Given the description of an element on the screen output the (x, y) to click on. 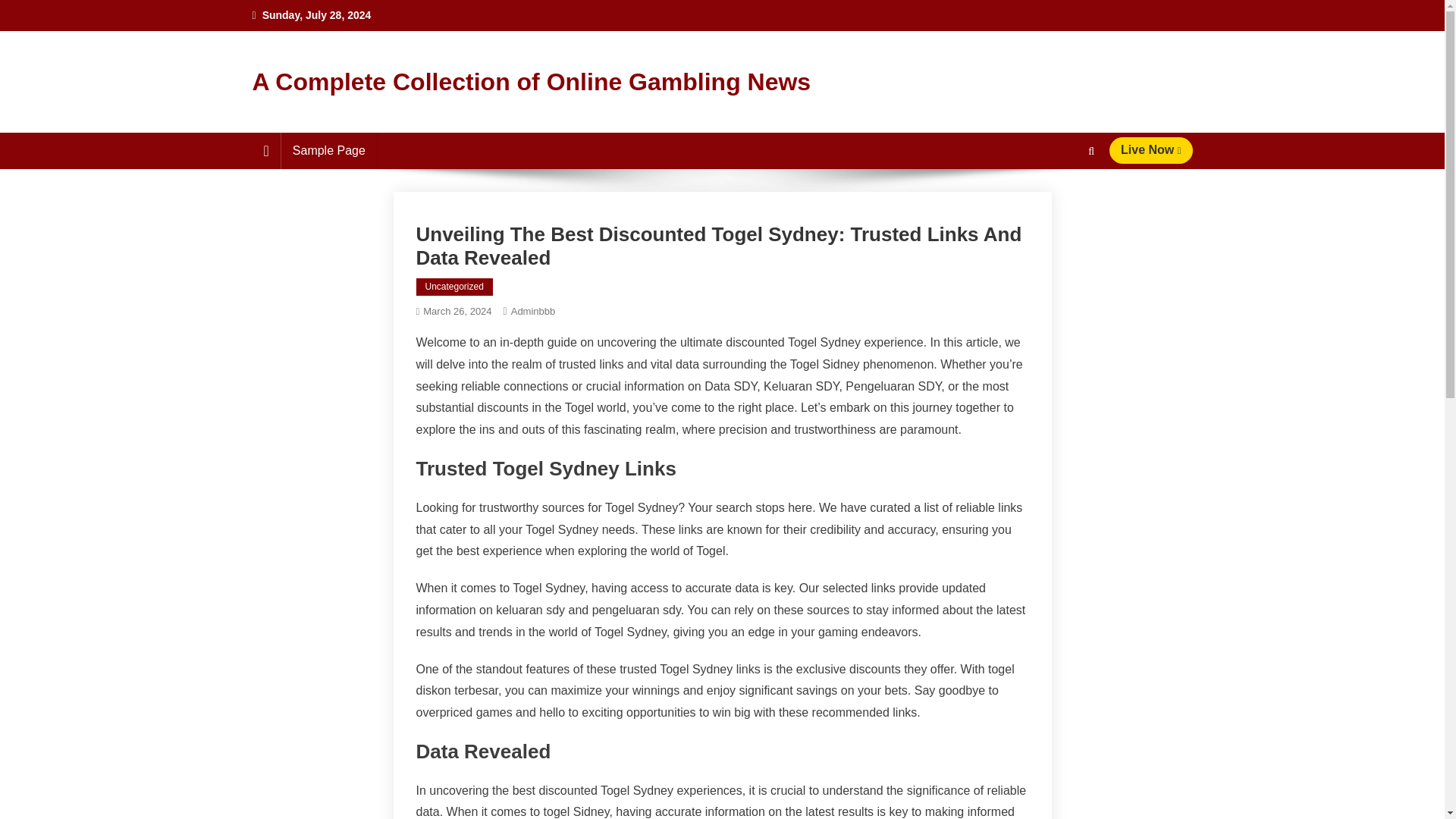
A Complete Collection of Online Gambling News (530, 81)
Uncategorized (453, 287)
March 26, 2024 (457, 310)
Search (1062, 206)
Adminbbb (533, 310)
Live Now (1150, 150)
Sample Page (329, 150)
